Given the description of an element on the screen output the (x, y) to click on. 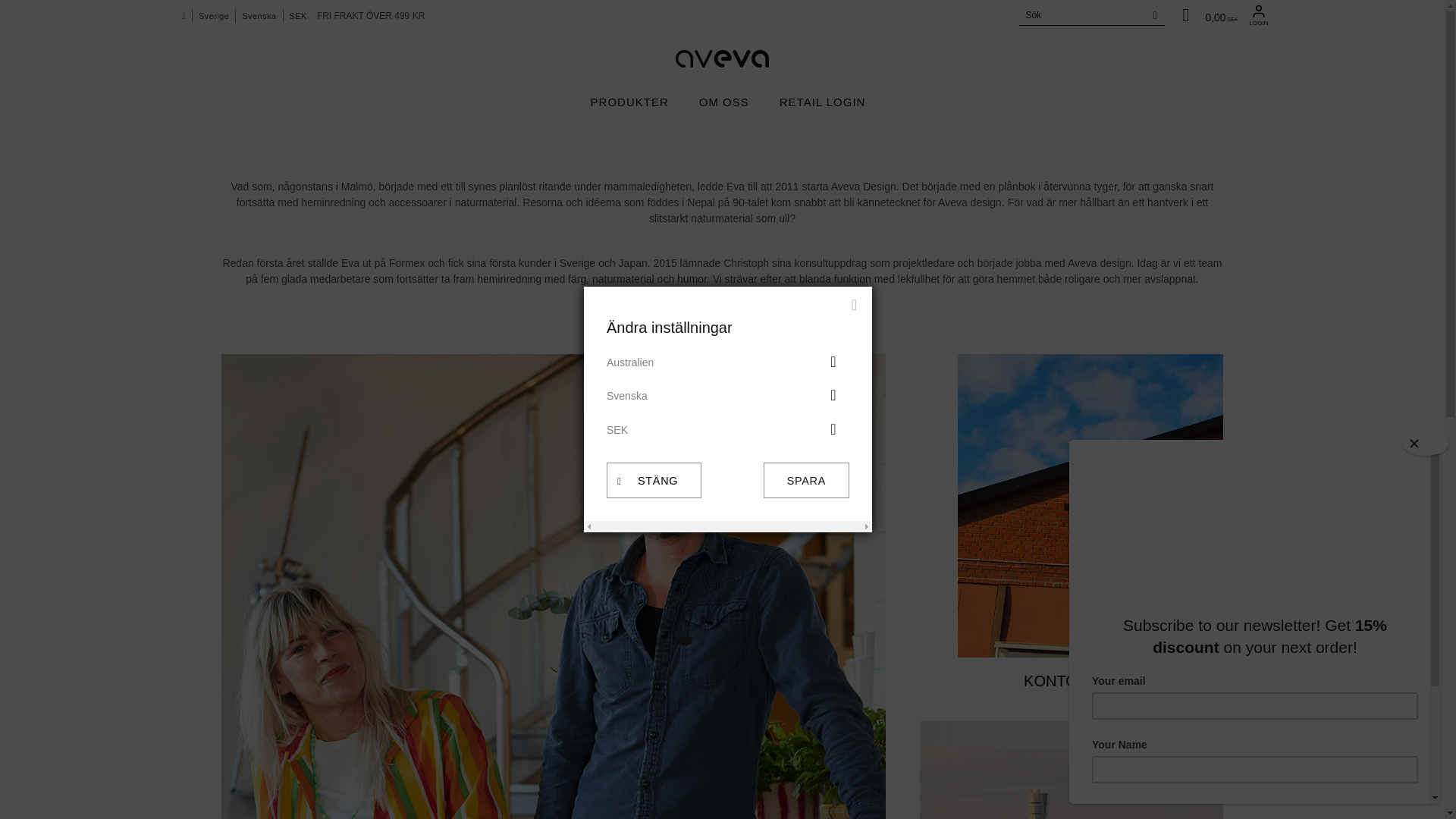
PRODUKTER (1206, 15)
Produkter (629, 102)
